Given the description of an element on the screen output the (x, y) to click on. 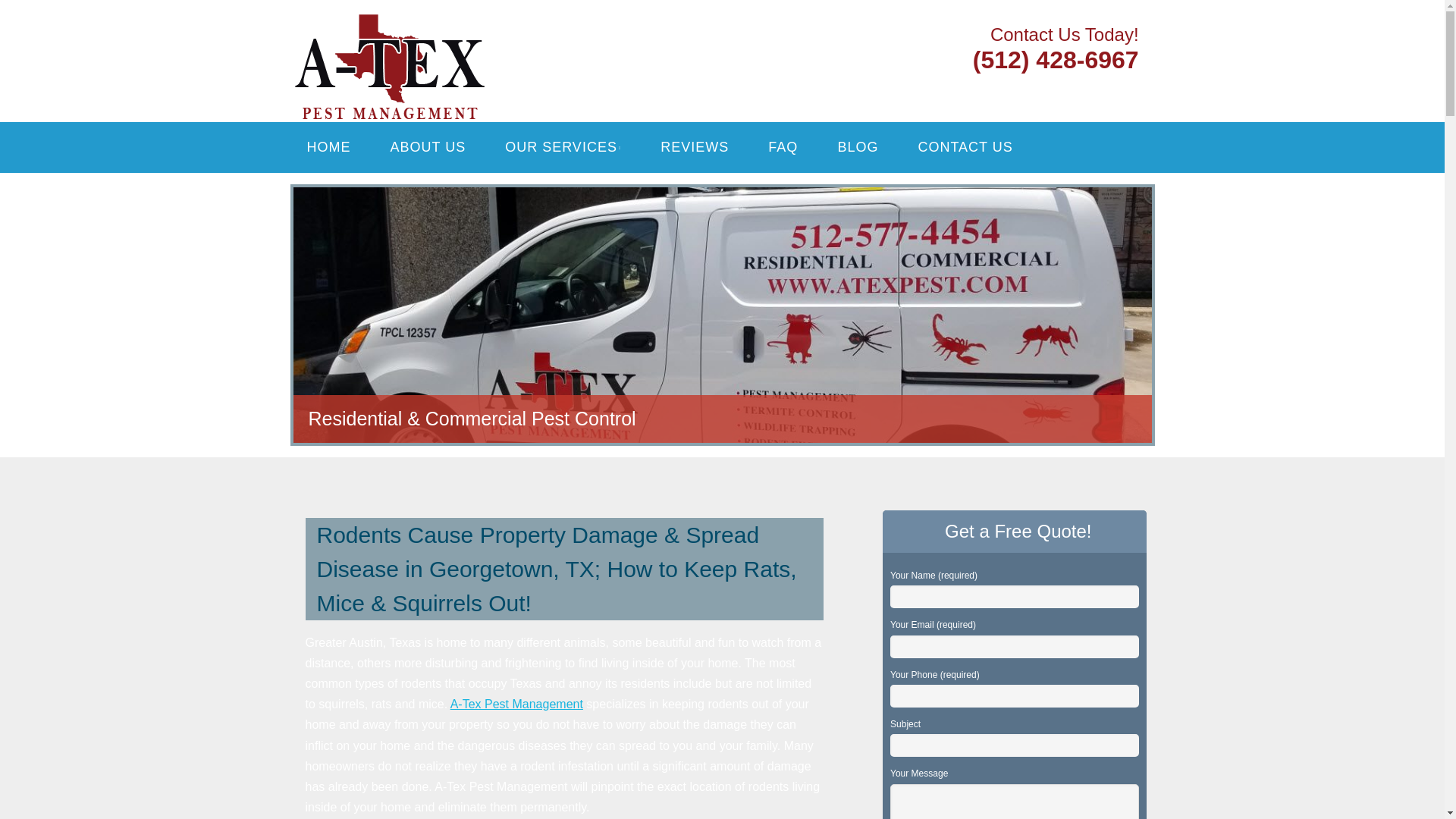
OUR SERVICES (562, 147)
A Tex Pest Management (486, 32)
ABOUT US (427, 147)
A TEX PEST MANAGEMENT (486, 32)
HOME (328, 147)
